Given the description of an element on the screen output the (x, y) to click on. 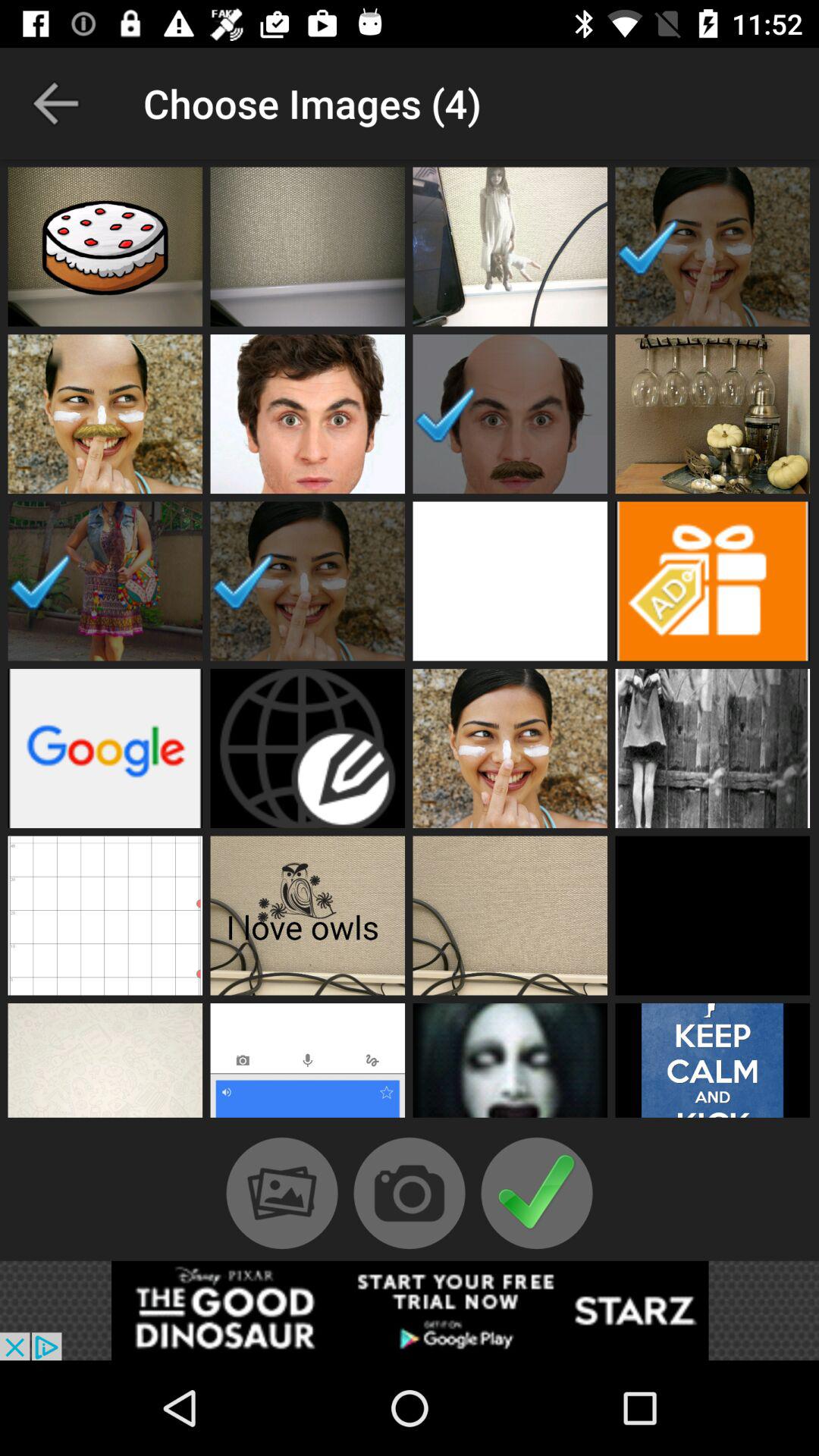
include in video (712, 915)
